Given the description of an element on the screen output the (x, y) to click on. 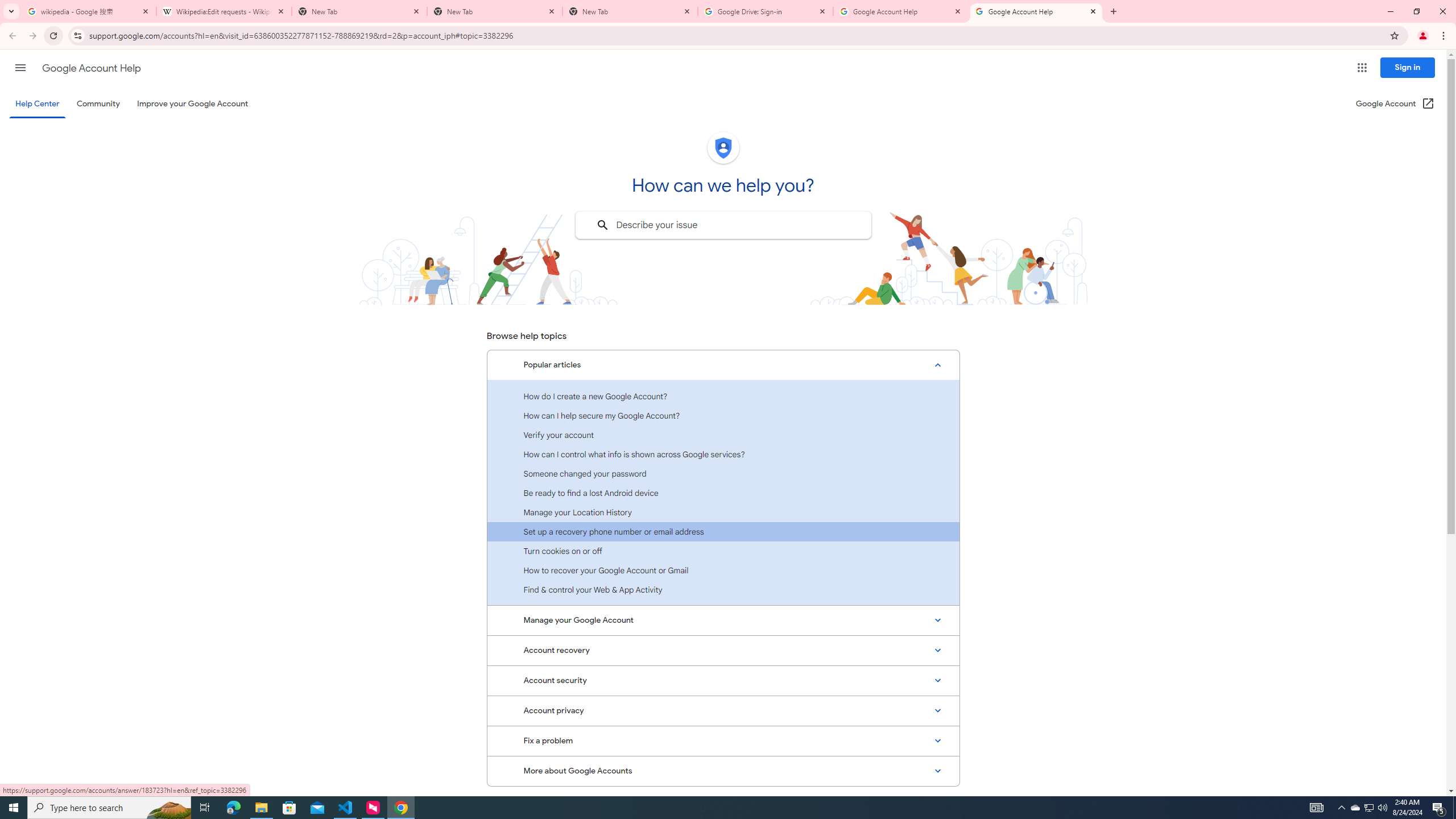
How do I create a new Google Account? (722, 396)
Manage your Google Account (722, 620)
Google Account (Open in a new window) (1395, 103)
How to recover your Google Account or Gmail (722, 570)
More about Google Accounts (722, 771)
Fix a problem (722, 740)
Google Account Help (901, 11)
Account recovery (722, 650)
New Tab (494, 11)
New Tab (630, 11)
